Given the description of an element on the screen output the (x, y) to click on. 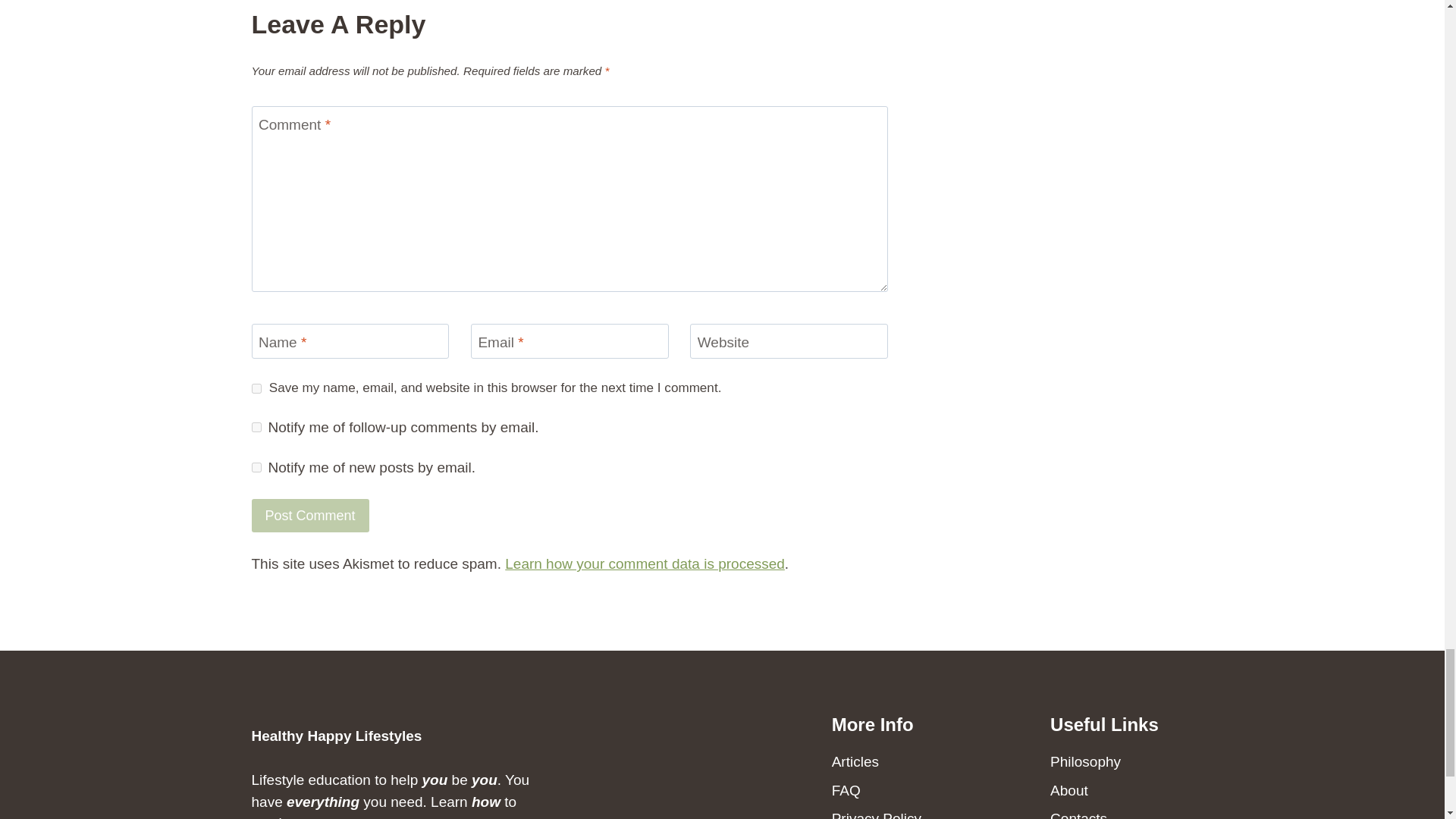
yes (256, 388)
subscribe (256, 467)
subscribe (256, 427)
Post Comment (310, 514)
